Given the description of an element on the screen output the (x, y) to click on. 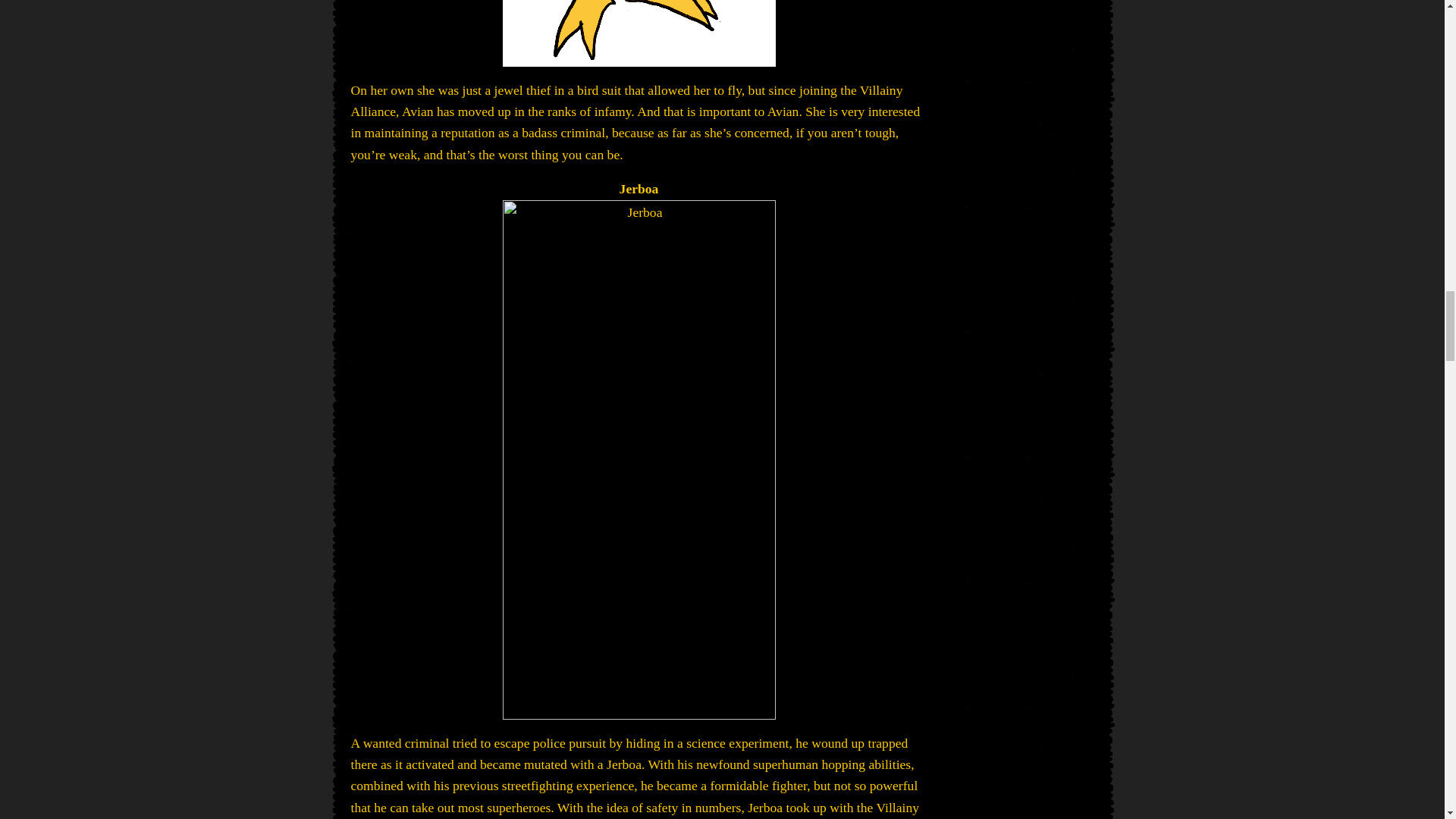
Avian (638, 33)
